Given the description of an element on the screen output the (x, y) to click on. 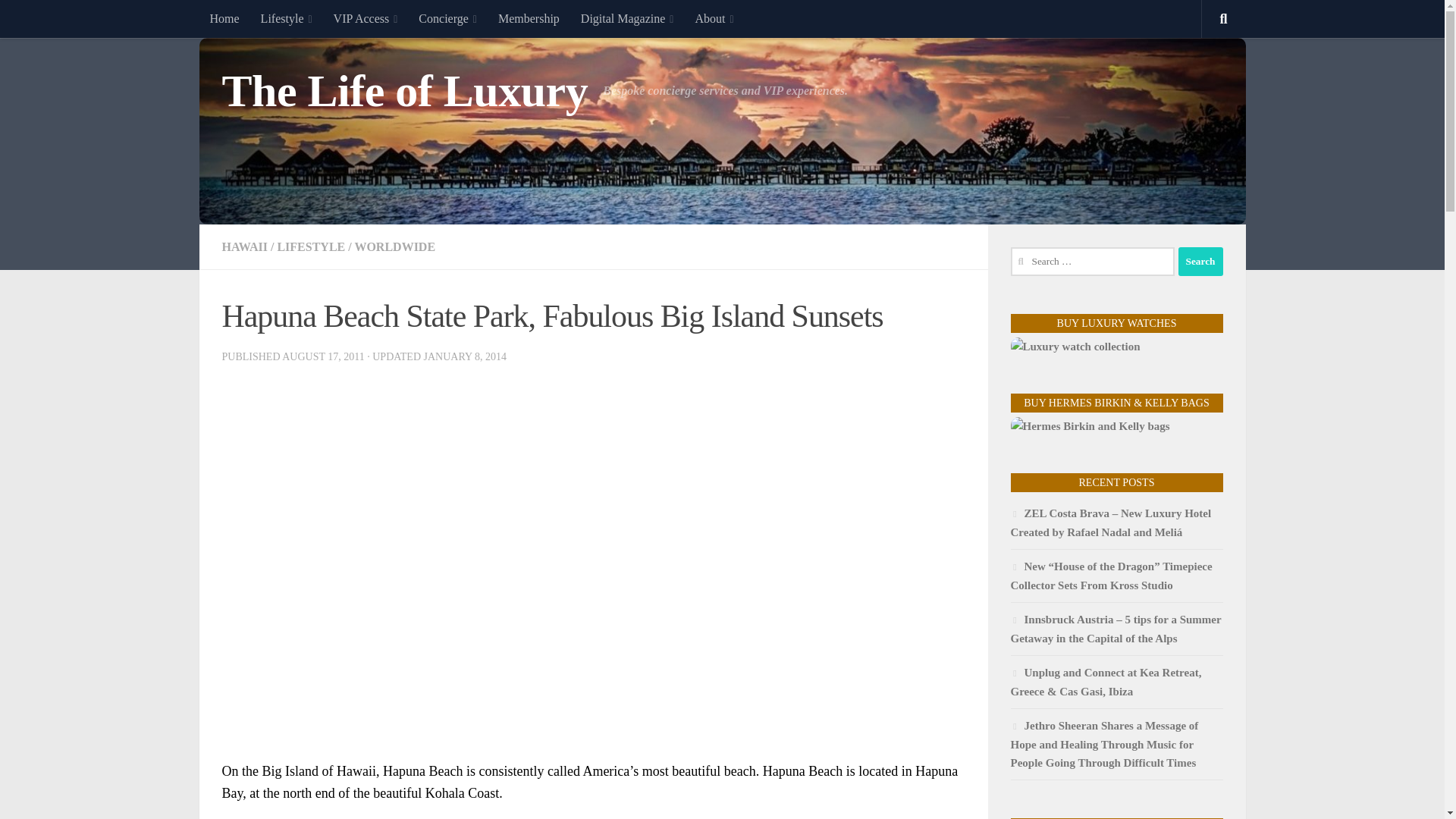
Search (1200, 261)
Skip to content (59, 20)
Search (1200, 261)
